Given the description of an element on the screen output the (x, y) to click on. 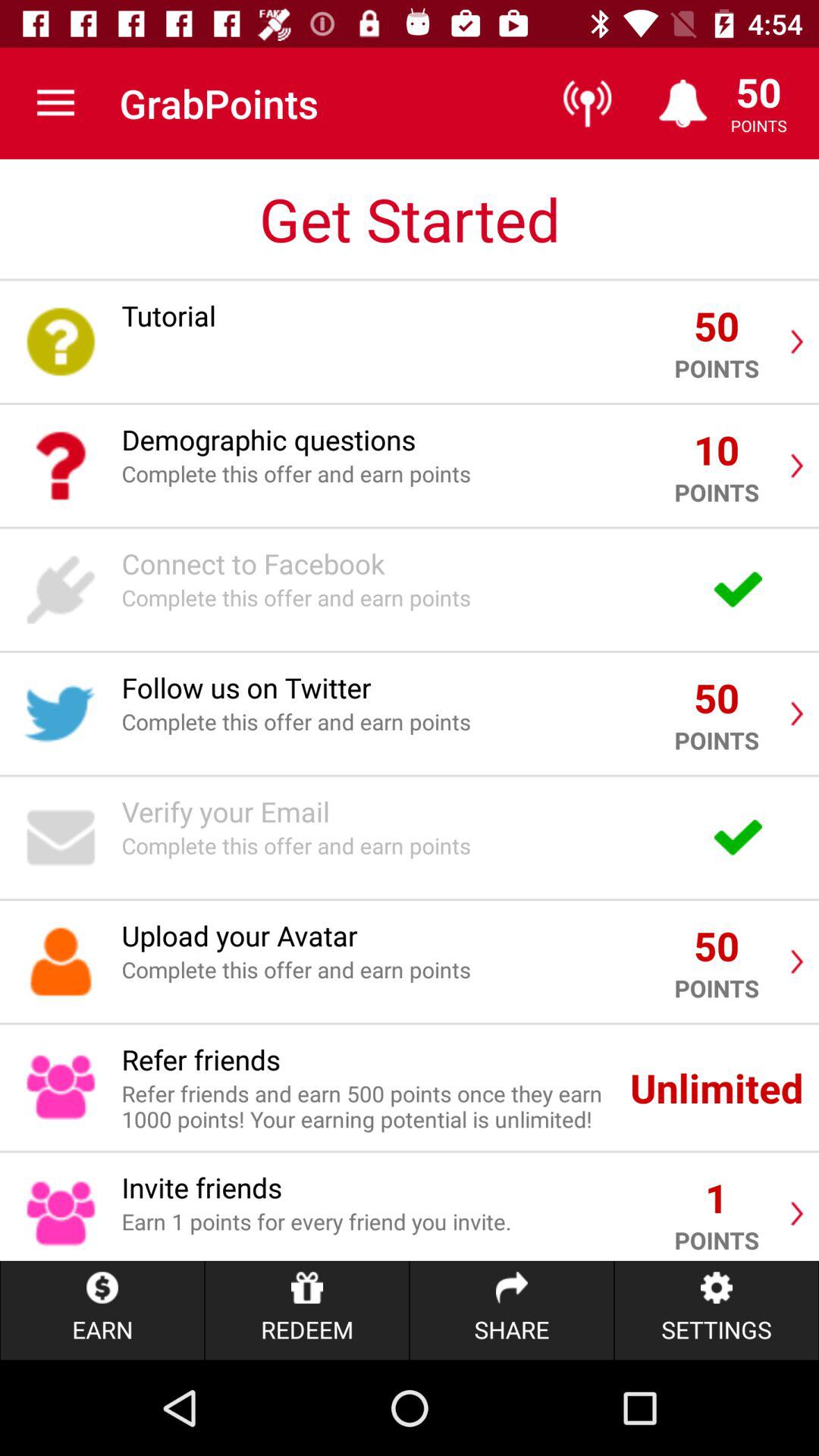
press item next to the settings (511, 1310)
